Given the description of an element on the screen output the (x, y) to click on. 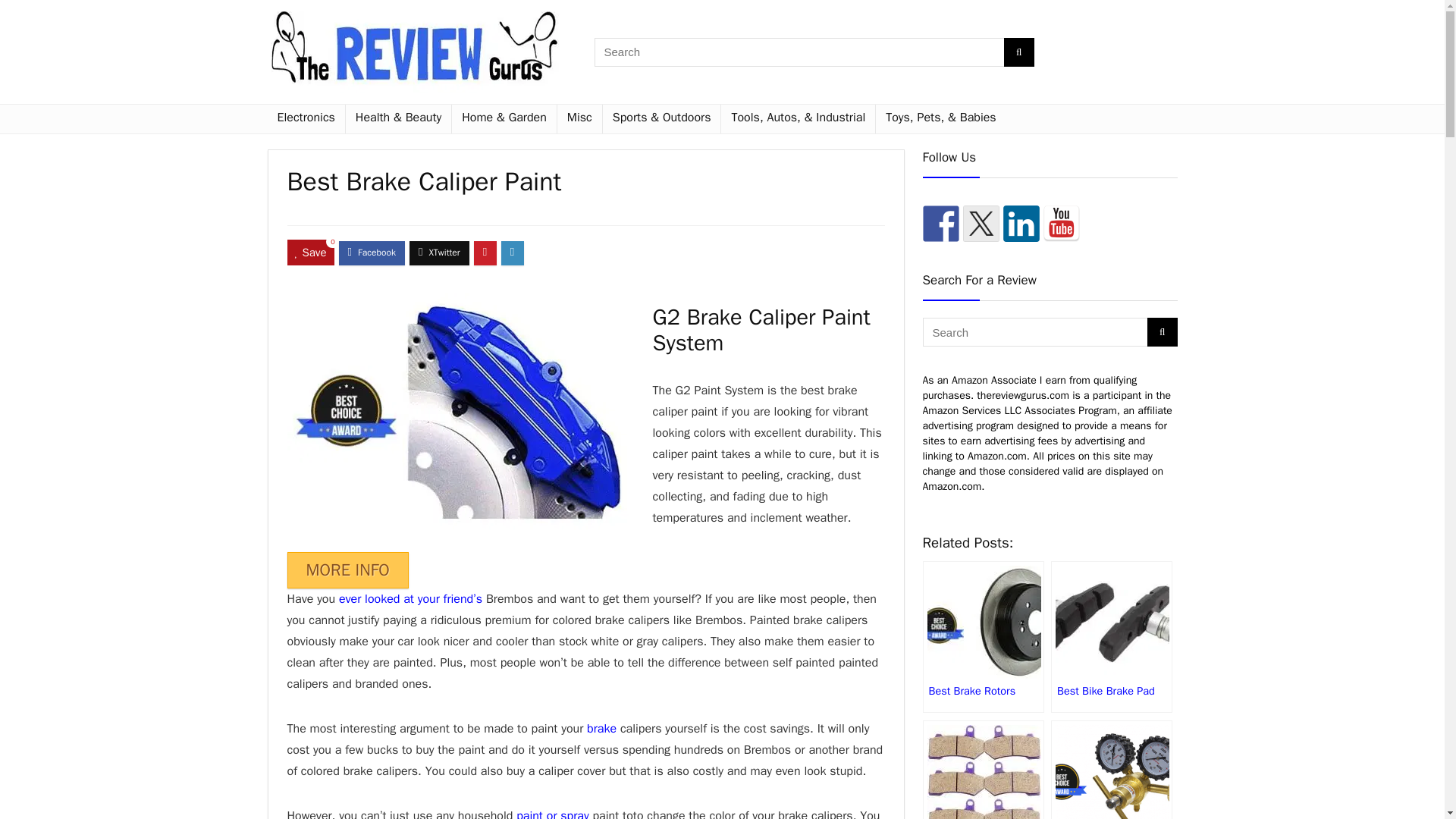
MORE INFO (346, 570)
Electronics (304, 118)
paint or spray (552, 813)
brake (600, 728)
Misc (579, 118)
Follow us on Facebook (939, 223)
Find us on YouTube (1061, 223)
Find us on Linkedin (1021, 223)
Follow us on Twitter (980, 223)
